Given the description of an element on the screen output the (x, y) to click on. 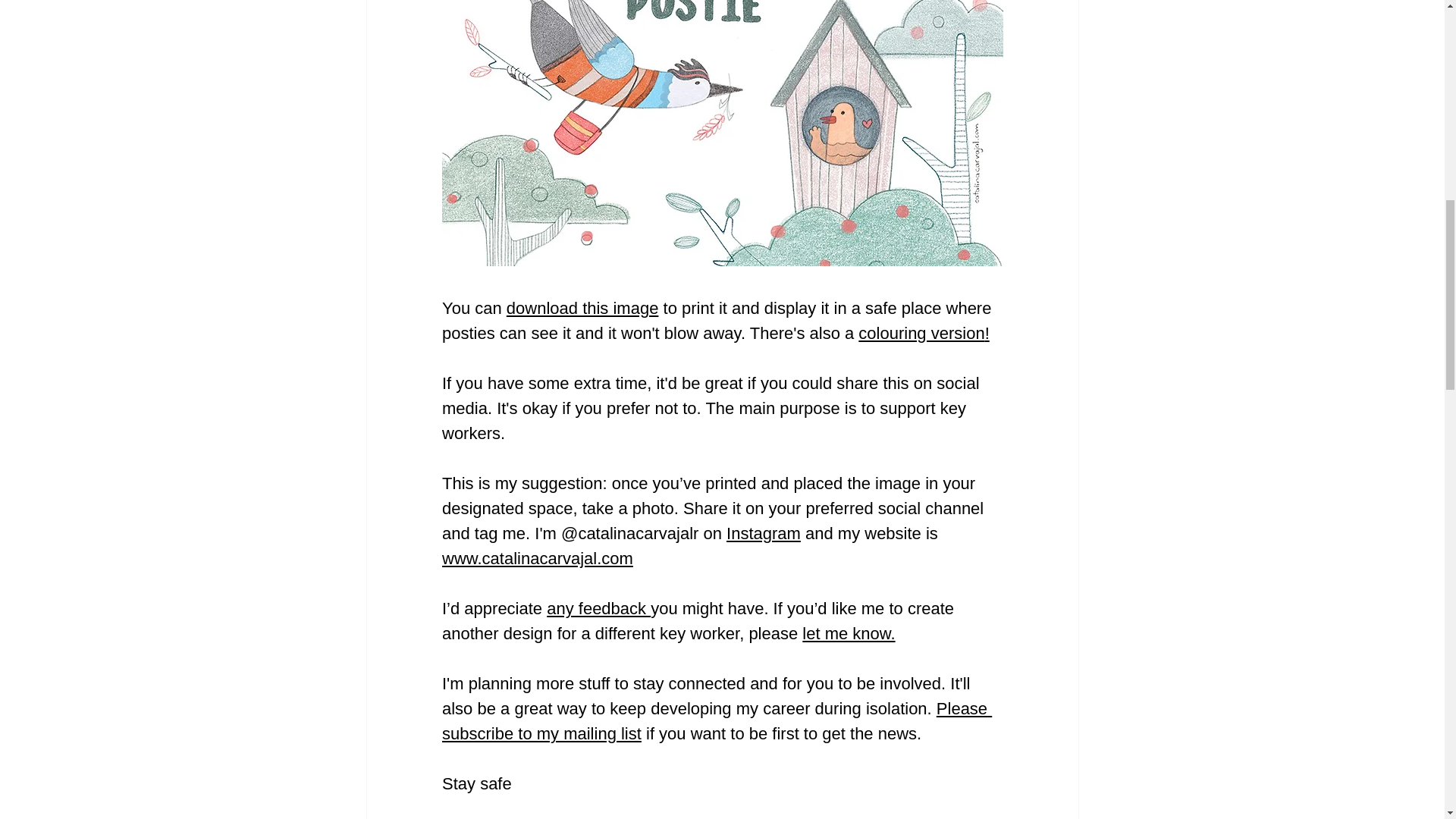
colouring version (921, 333)
Please subscribe to my mailing list (716, 720)
Instagram (763, 533)
any feedback  (598, 608)
www.catalinacarvajal.com (536, 558)
let me know. (848, 633)
download this image (581, 307)
